Given the description of an element on the screen output the (x, y) to click on. 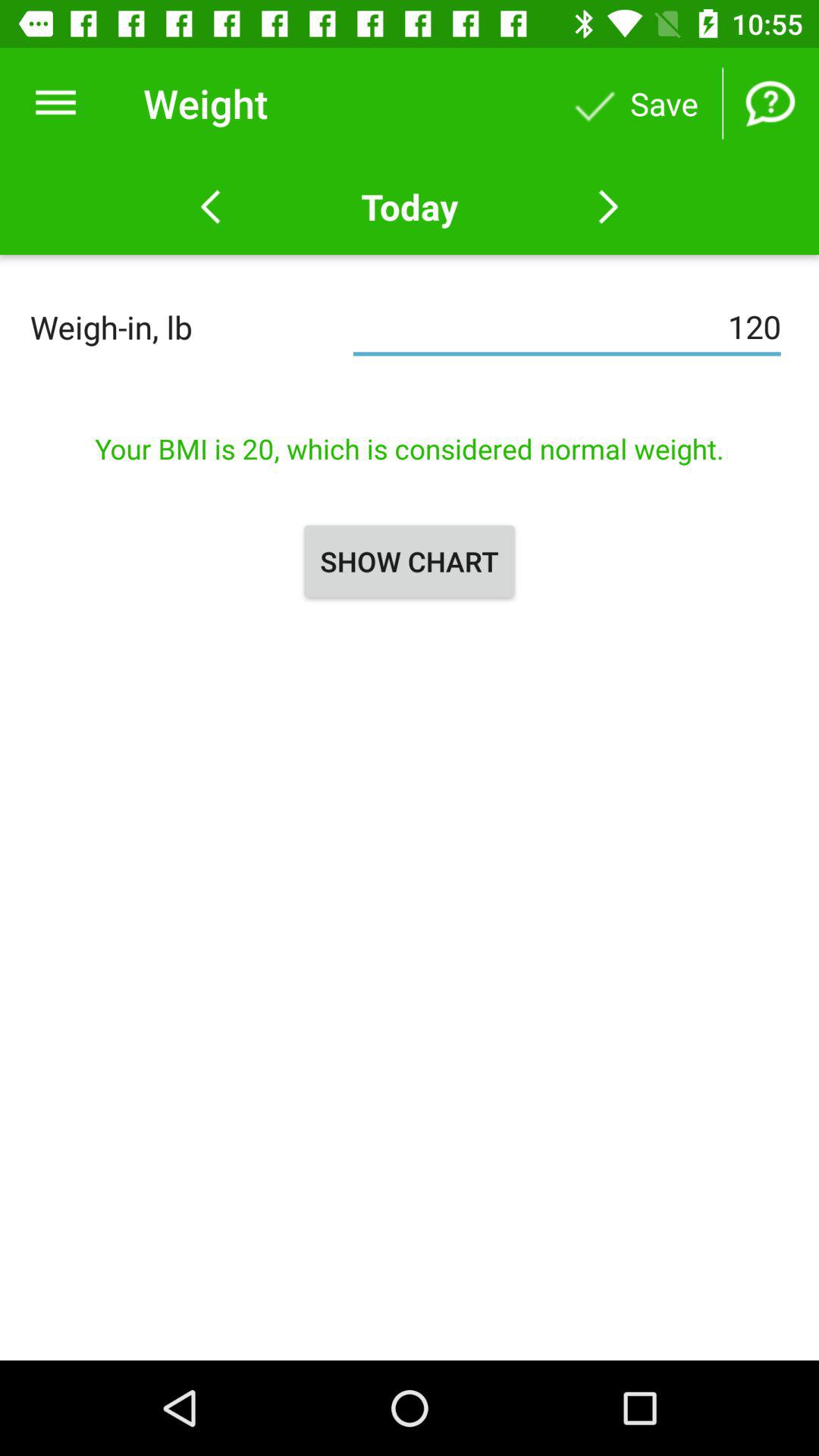
turn off the item next to weight (55, 103)
